Given the description of an element on the screen output the (x, y) to click on. 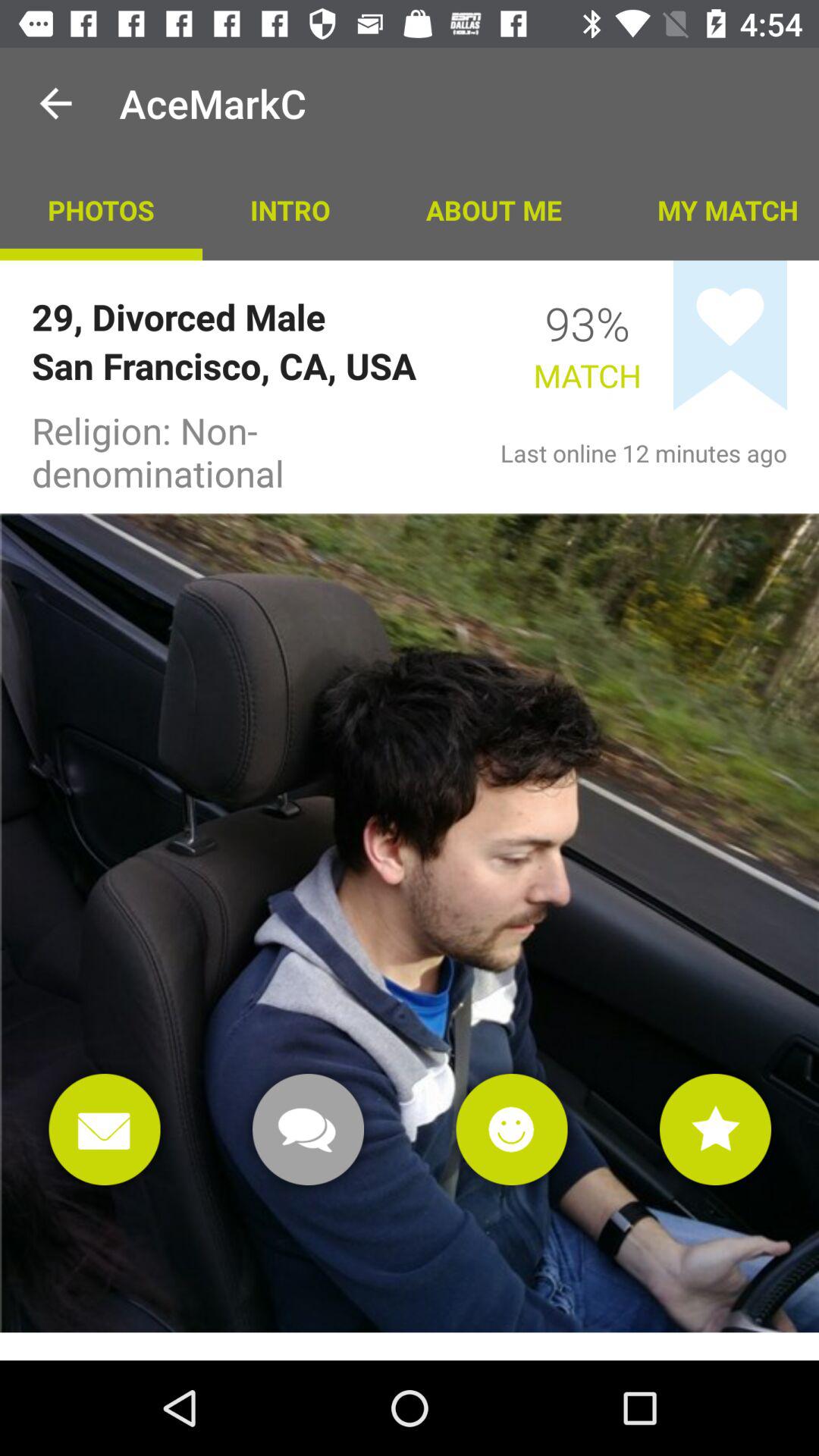
swipe to the about me item (493, 209)
